Given the description of an element on the screen output the (x, y) to click on. 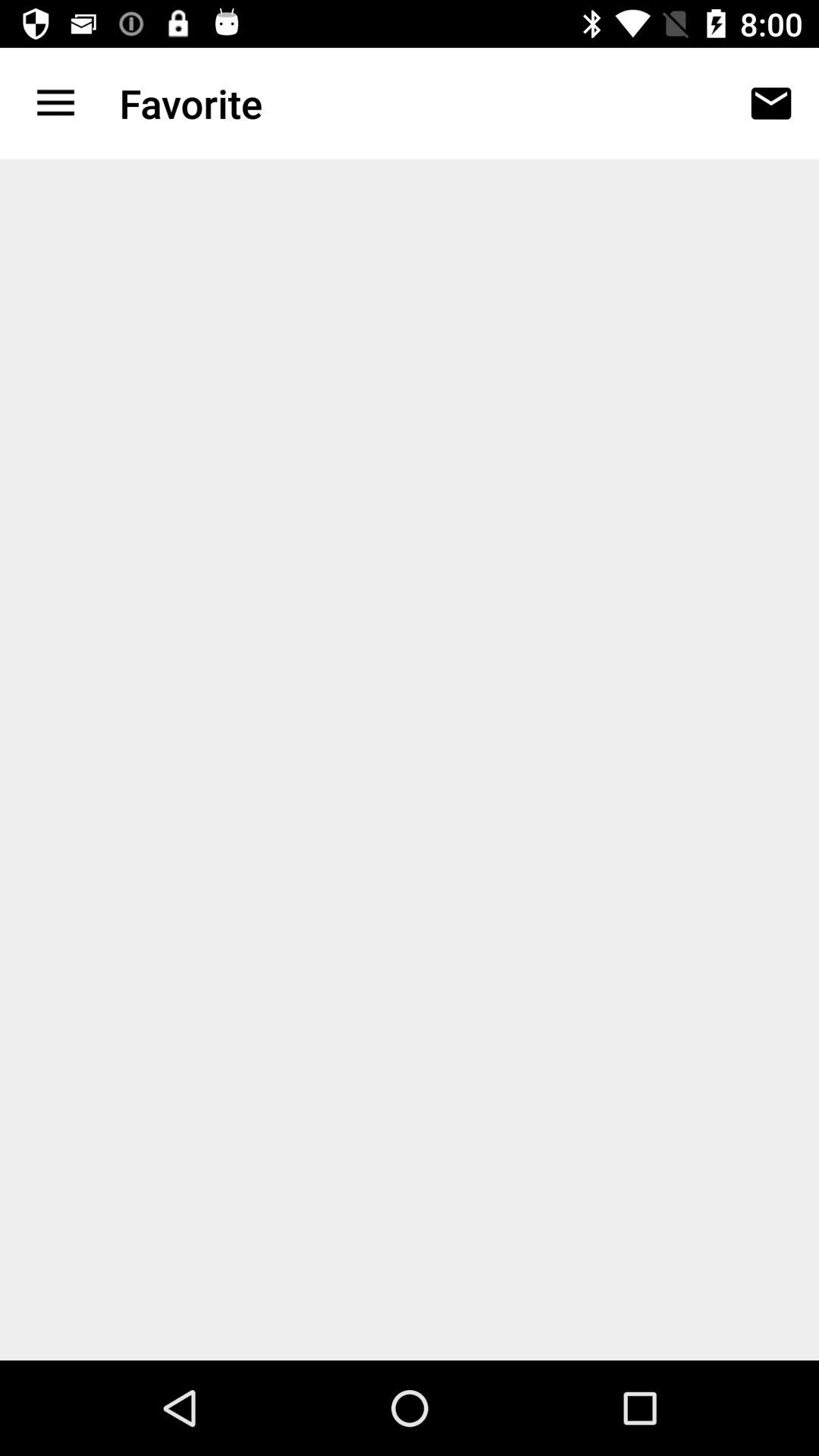
click icon next to favorite (771, 103)
